Given the description of an element on the screen output the (x, y) to click on. 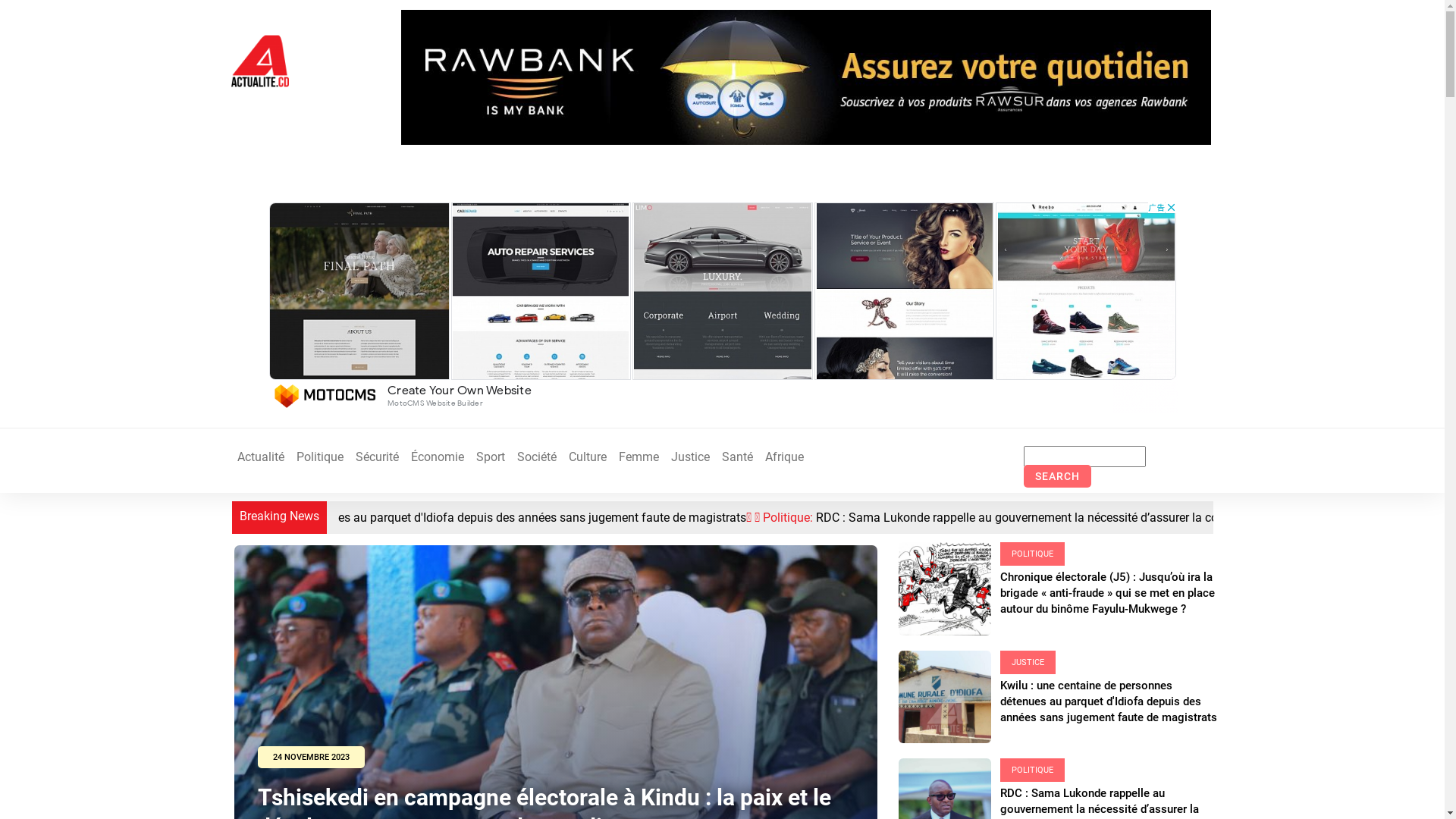
Justice Element type: text (689, 456)
Culture Element type: text (587, 456)
Politique Element type: text (318, 456)
Sport Element type: text (490, 456)
Accueil Element type: hover (259, 61)
Femme Element type: text (638, 456)
Afrique Element type: text (783, 456)
POLITIQUE Element type: text (1032, 553)
Search Element type: text (1057, 475)
JUSTICE Element type: text (1027, 662)
POLITIQUE Element type: text (1032, 770)
Advertisement Element type: hover (721, 306)
